Given the description of an element on the screen output the (x, y) to click on. 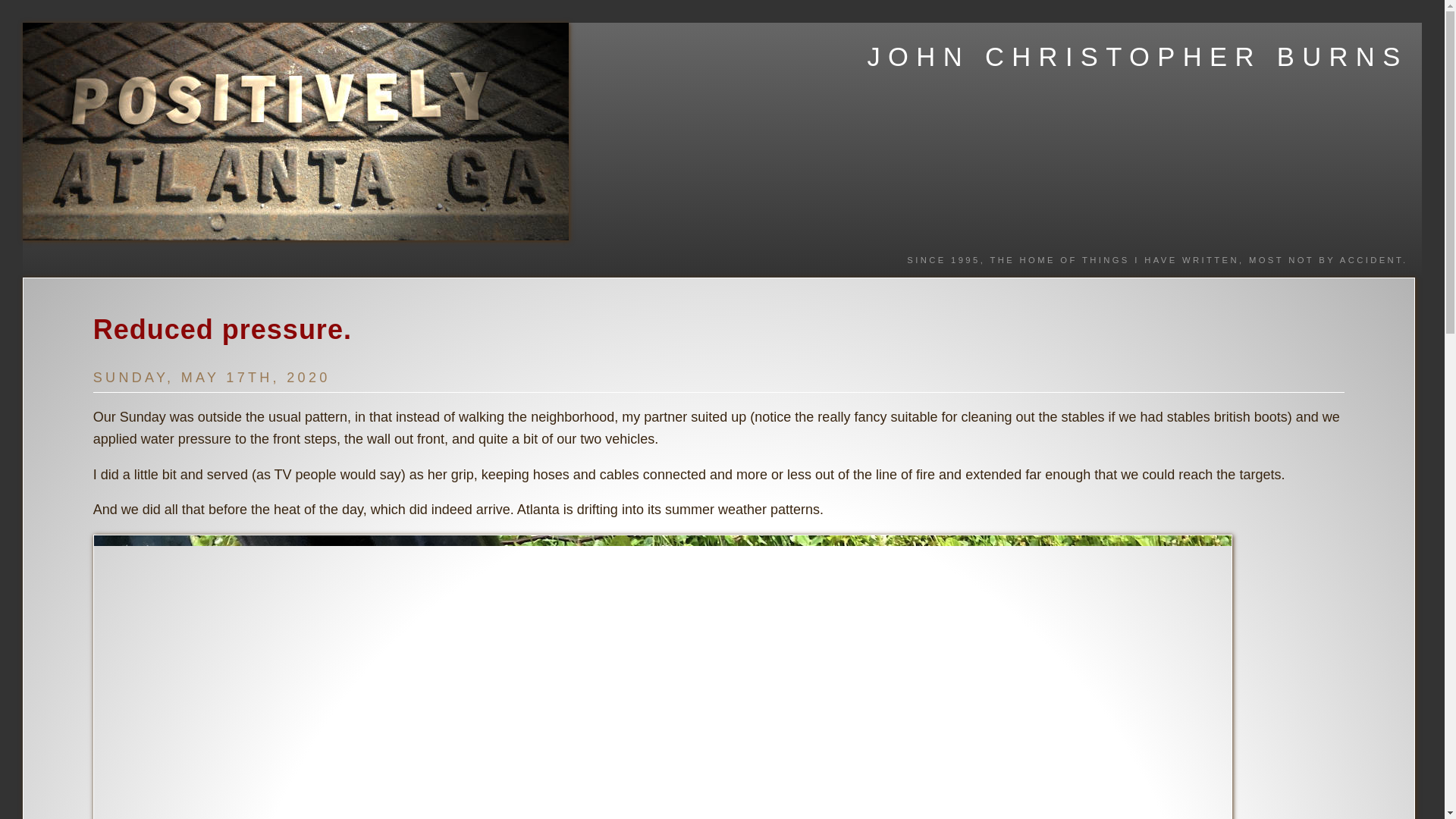
SINCE 1995 (943, 259)
Reduced pressure. (222, 328)
